Given the description of an element on the screen output the (x, y) to click on. 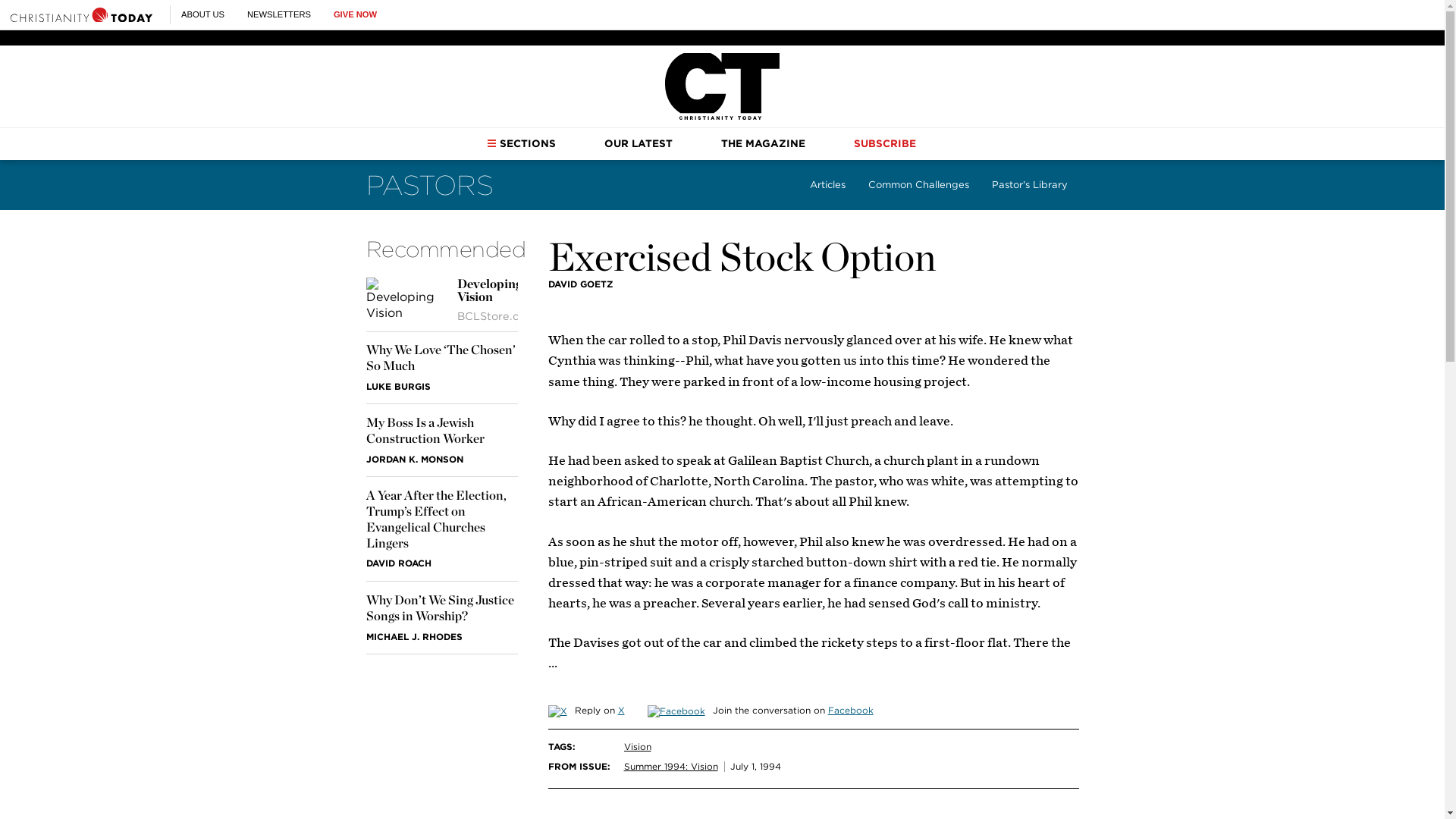
SECTIONS (521, 143)
Christianity Today (81, 14)
Sections Dropdown (491, 143)
NEWSLETTERS (278, 14)
GIVE NOW (355, 14)
ABOUT US (202, 14)
Christianity Today (721, 86)
